Given the description of an element on the screen output the (x, y) to click on. 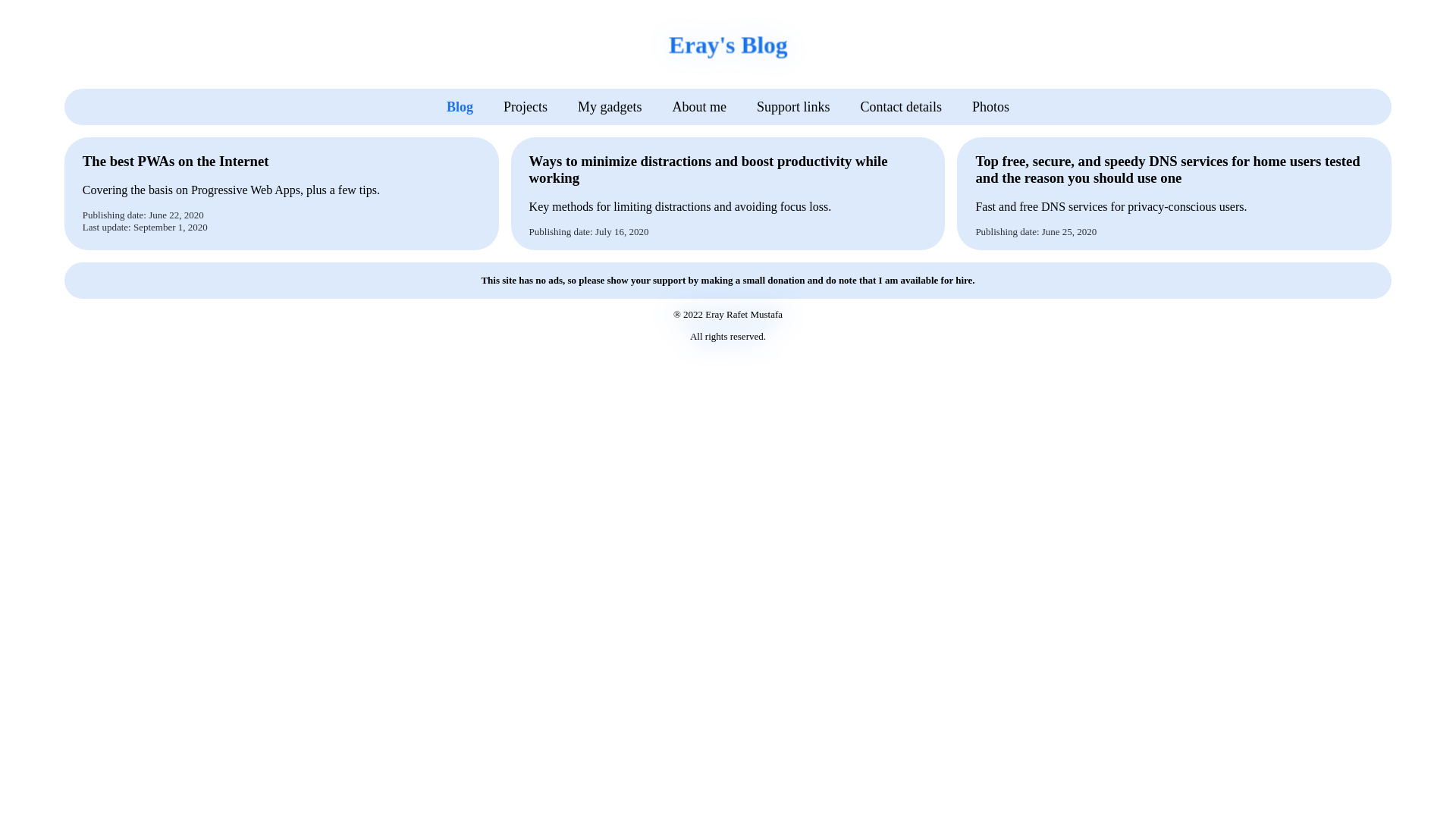
Support links (804, 106)
Projects (569, 106)
My gadgets (642, 106)
Blog (510, 106)
Contact details (898, 106)
Photos (978, 106)
About me (719, 106)
